Given the description of an element on the screen output the (x, y) to click on. 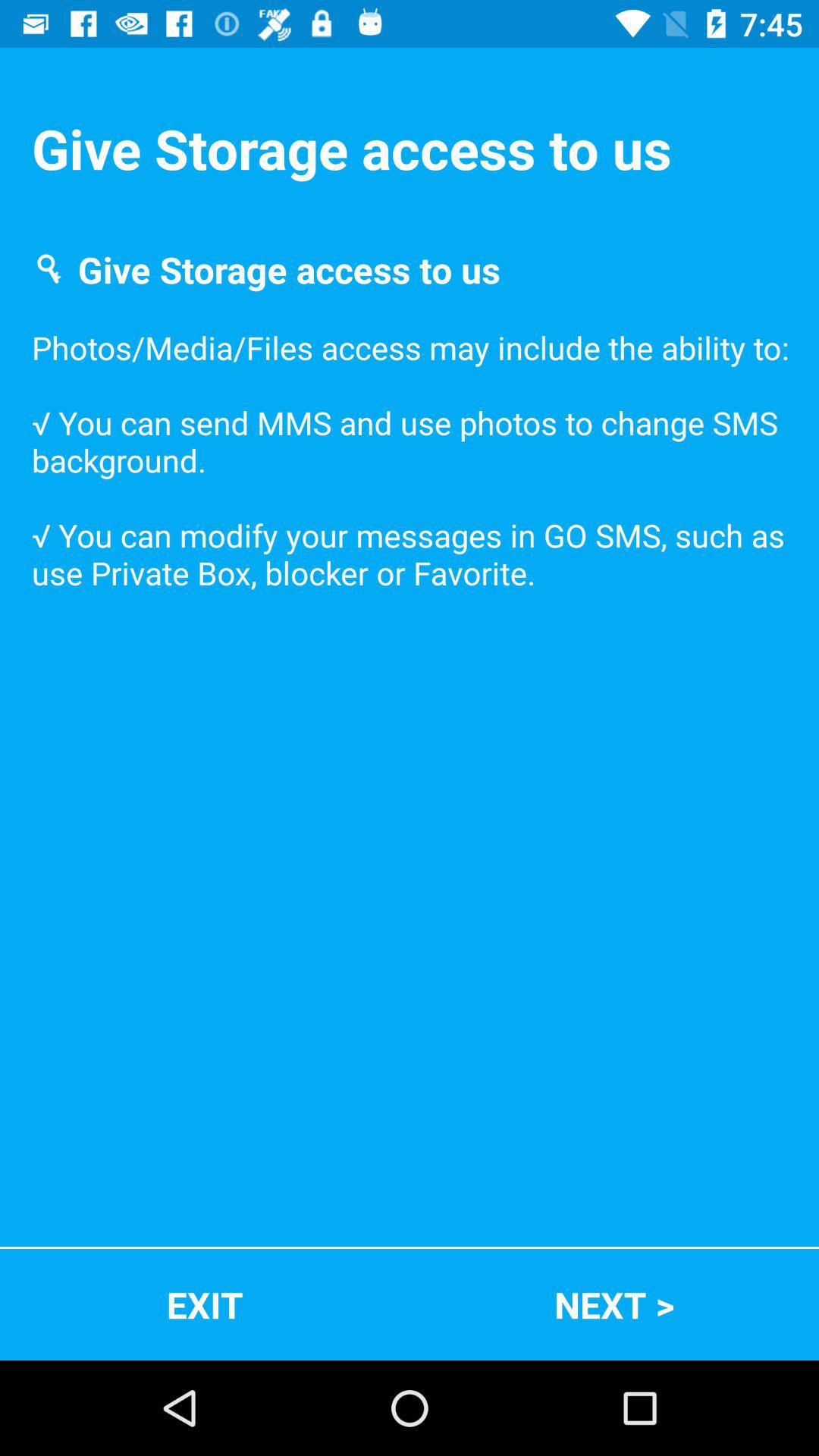
choose icon to the left of the next > (204, 1304)
